Given the description of an element on the screen output the (x, y) to click on. 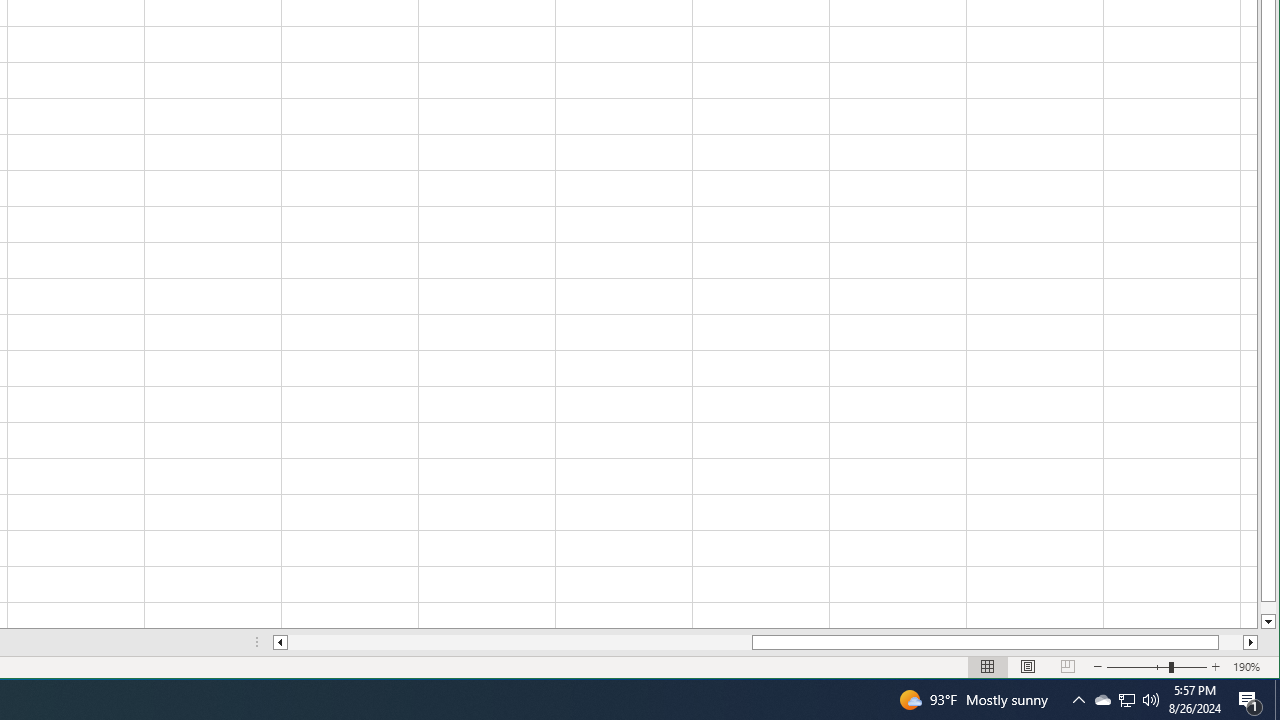
Show desktop (1277, 699)
Q2790: 100% (1126, 699)
Notification Chevron (1151, 699)
Action Center, 1 new notification (1078, 699)
